Given the description of an element on the screen output the (x, y) to click on. 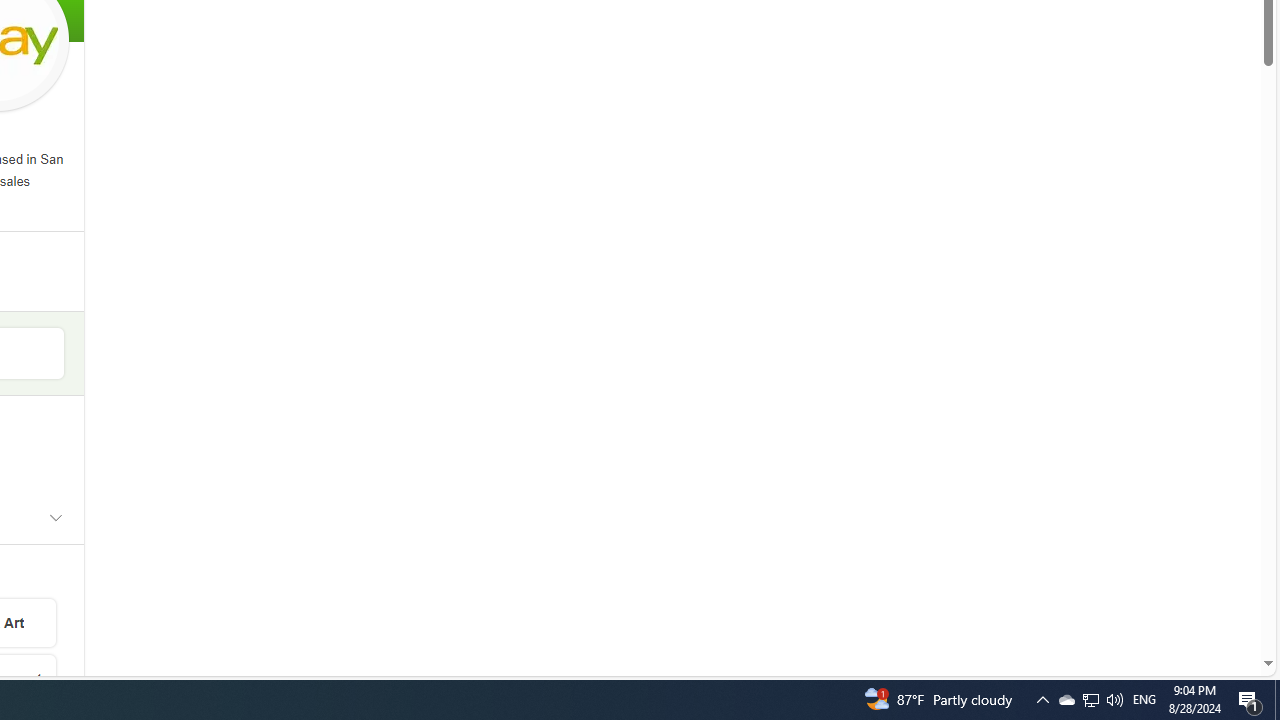
AutomationID: mfa_root (1192, 603)
Search more (1222, 604)
